Given the description of an element on the screen output the (x, y) to click on. 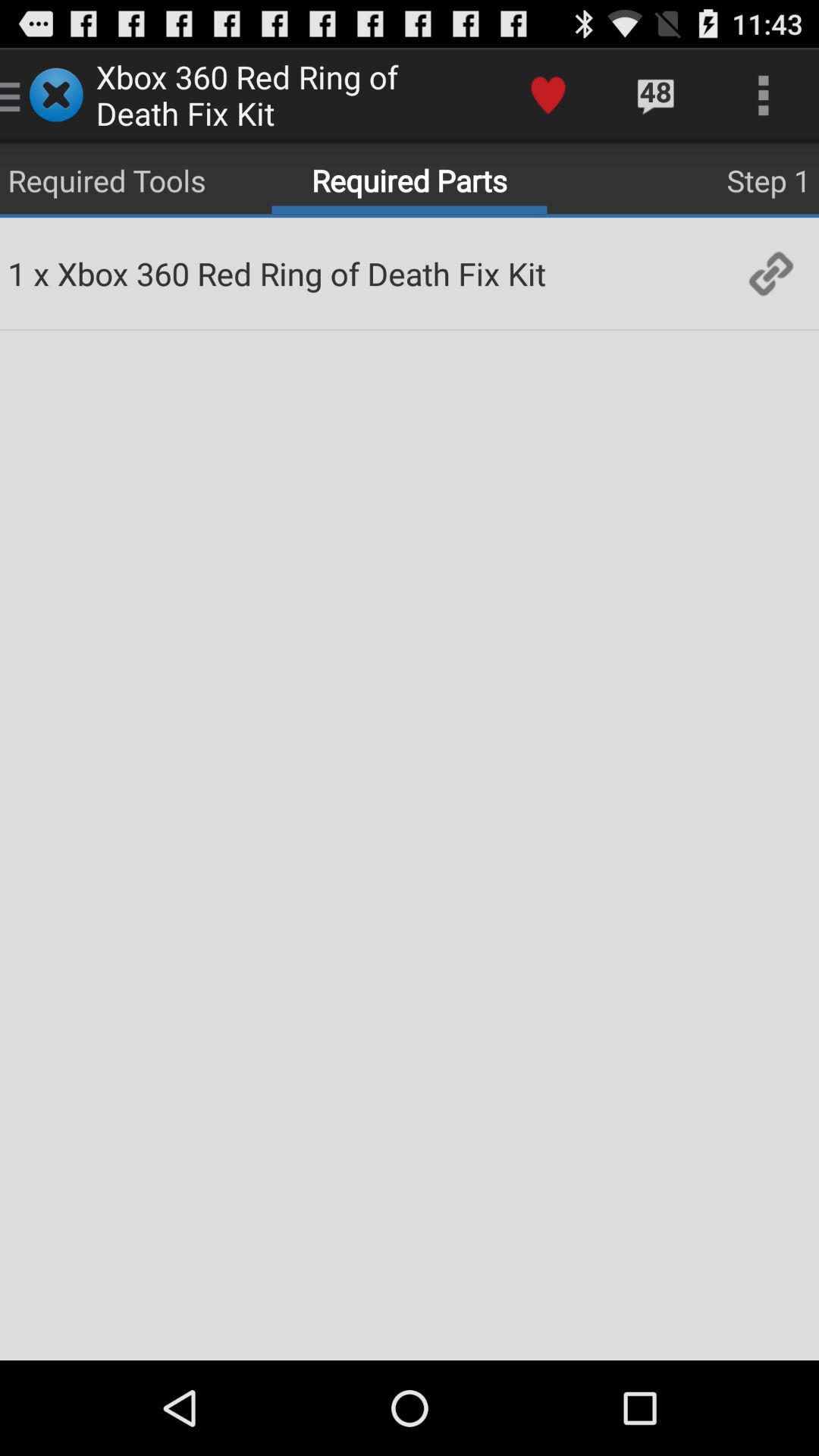
scroll until the 1 (16, 273)
